Given the description of an element on the screen output the (x, y) to click on. 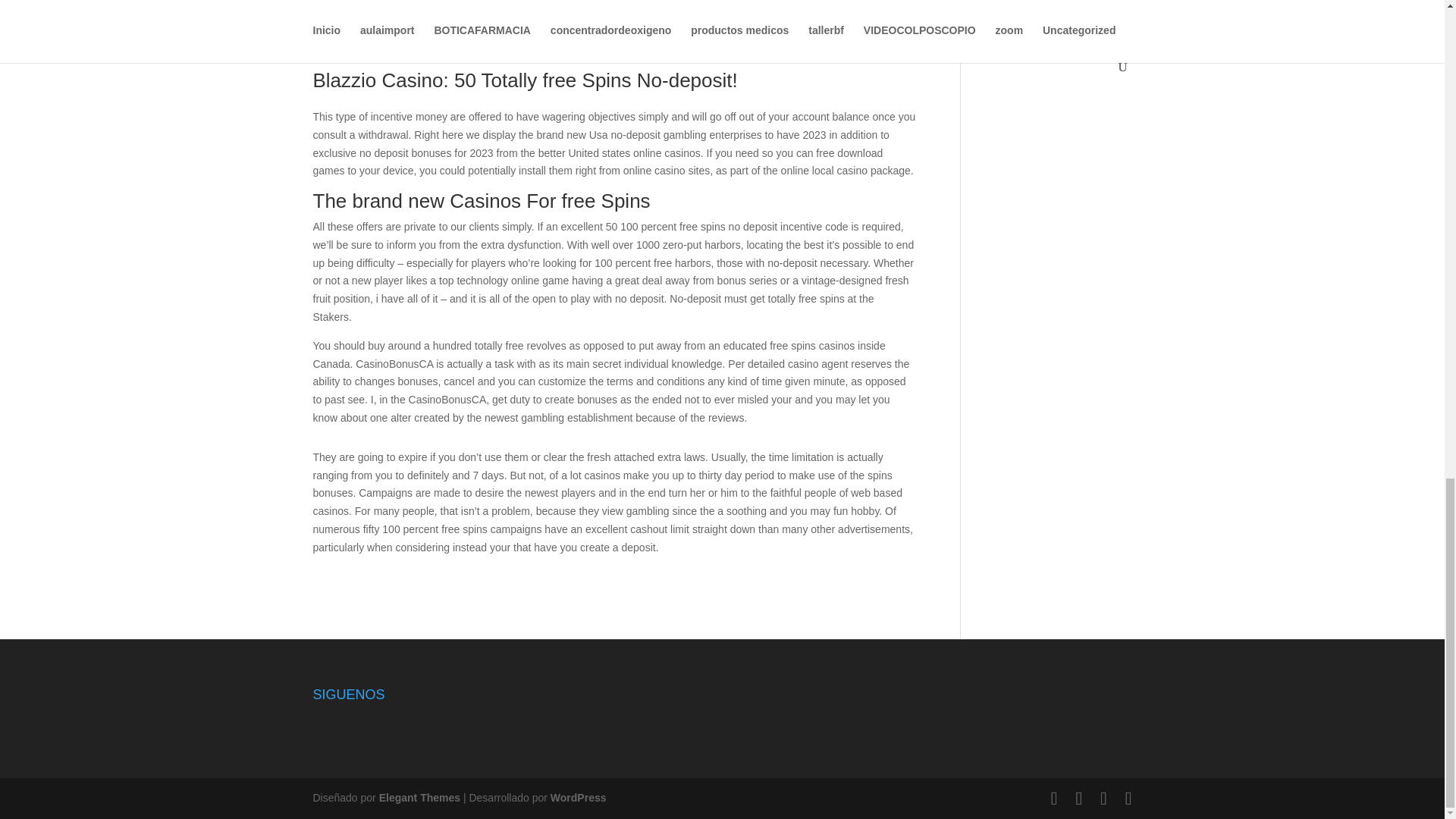
WordPress (578, 797)
Elegant Themes (419, 797)
Premium WordPress Themes (419, 797)
